Given the description of an element on the screen output the (x, y) to click on. 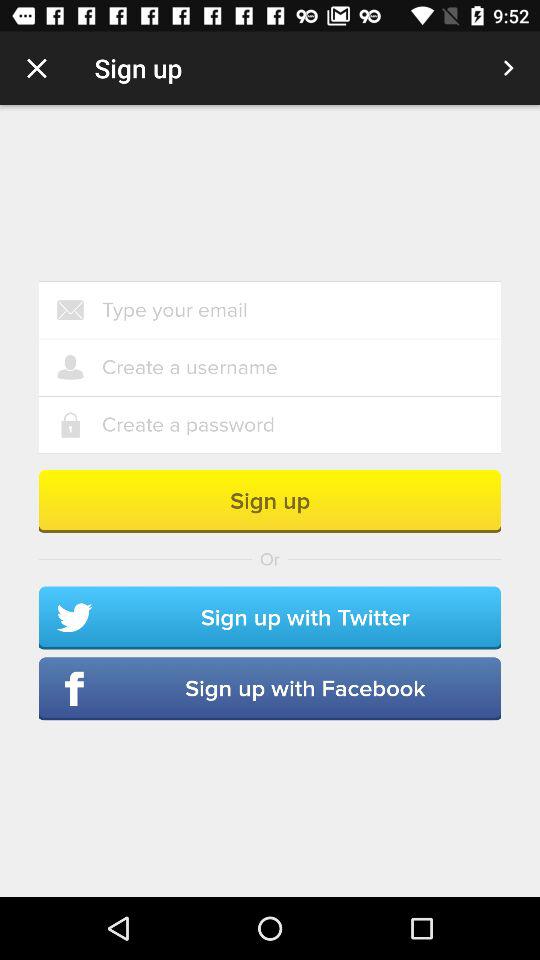
choose the icon at the top right corner (508, 67)
